Given the description of an element on the screen output the (x, y) to click on. 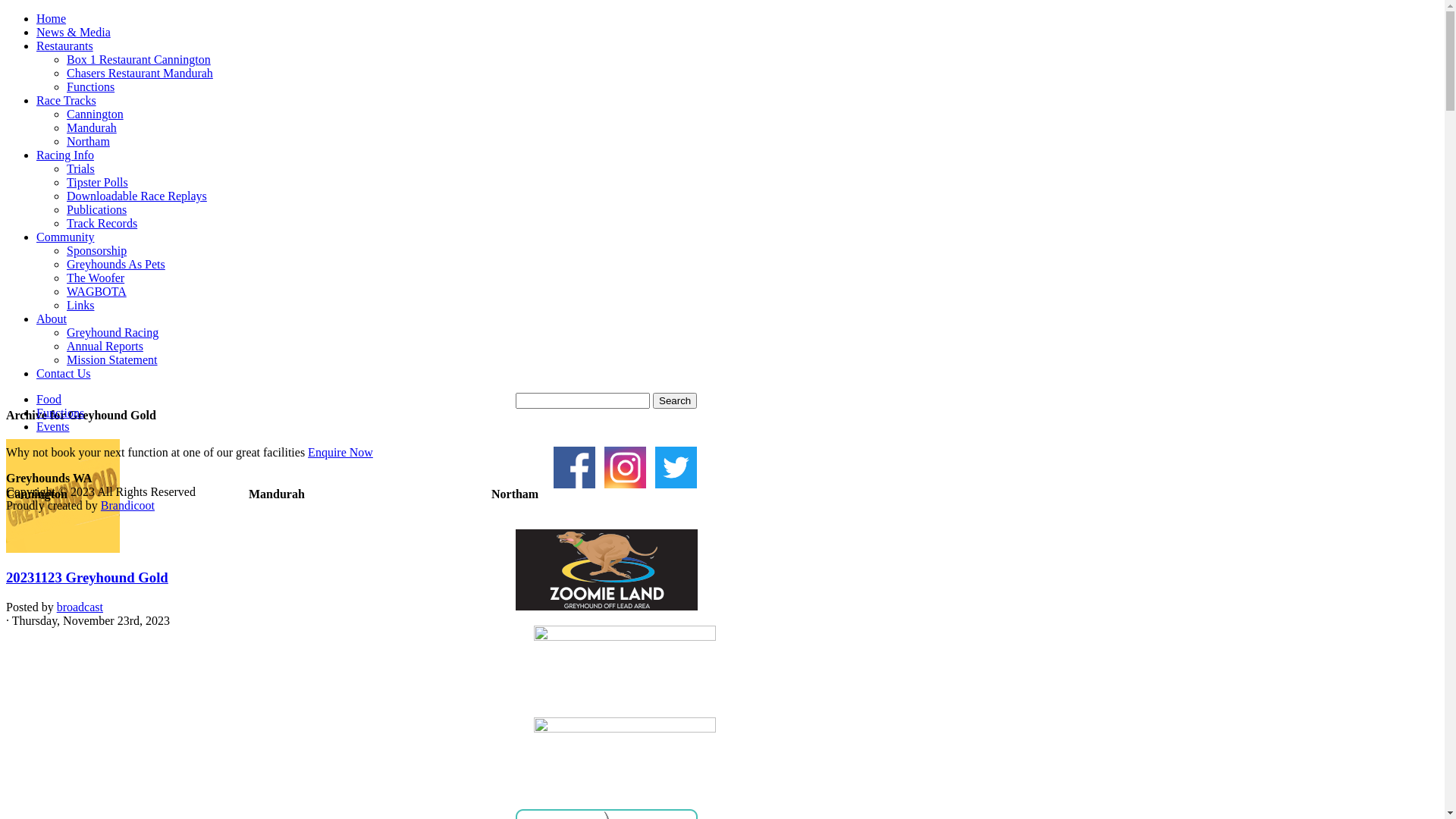
20231123 Greyhound Gold Element type: text (87, 577)
Cannington Element type: text (94, 113)
Racing Info Element type: text (65, 154)
Trials Element type: text (80, 168)
Functions Element type: text (90, 86)
Contact Us Element type: text (63, 373)
broadcast Element type: text (79, 606)
Sponsorship Element type: text (96, 250)
Track Records Element type: text (101, 222)
The Woofer Element type: text (95, 277)
Greyhounds As Pets Element type: text (115, 263)
Greyhound Racing Element type: text (112, 332)
Race Tracks Element type: text (66, 100)
Mandurah Element type: text (91, 127)
Search Element type: text (674, 400)
About Element type: text (51, 318)
Northam Element type: text (87, 140)
Food Element type: text (48, 398)
Box 1 Restaurant Cannington Element type: text (138, 59)
News & Media Element type: text (73, 31)
Publications Element type: text (96, 209)
WAGBOTA Element type: text (96, 291)
Restaurants Element type: text (64, 45)
Links Element type: text (80, 304)
Mission Statement Element type: text (111, 359)
Brandicoot Element type: text (127, 504)
Functions Element type: text (60, 412)
Enquire Now Element type: text (340, 451)
Home Element type: text (50, 18)
Annual Reports Element type: text (104, 345)
Downloadable Race Replays Element type: text (136, 195)
Events Element type: text (52, 426)
Chasers Restaurant Mandurah Element type: text (139, 72)
Tipster Polls Element type: text (97, 181)
Community Element type: text (65, 236)
